Given the description of an element on the screen output the (x, y) to click on. 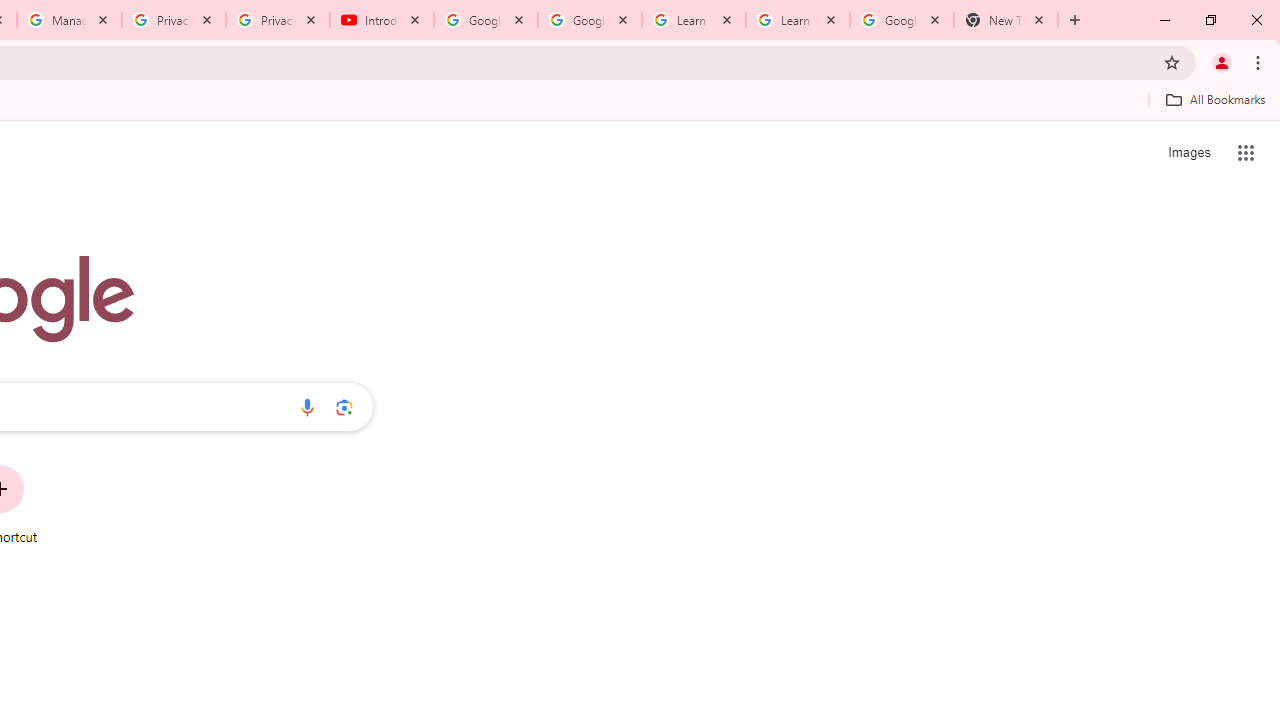
Google Account (901, 20)
